Given the description of an element on the screen output the (x, y) to click on. 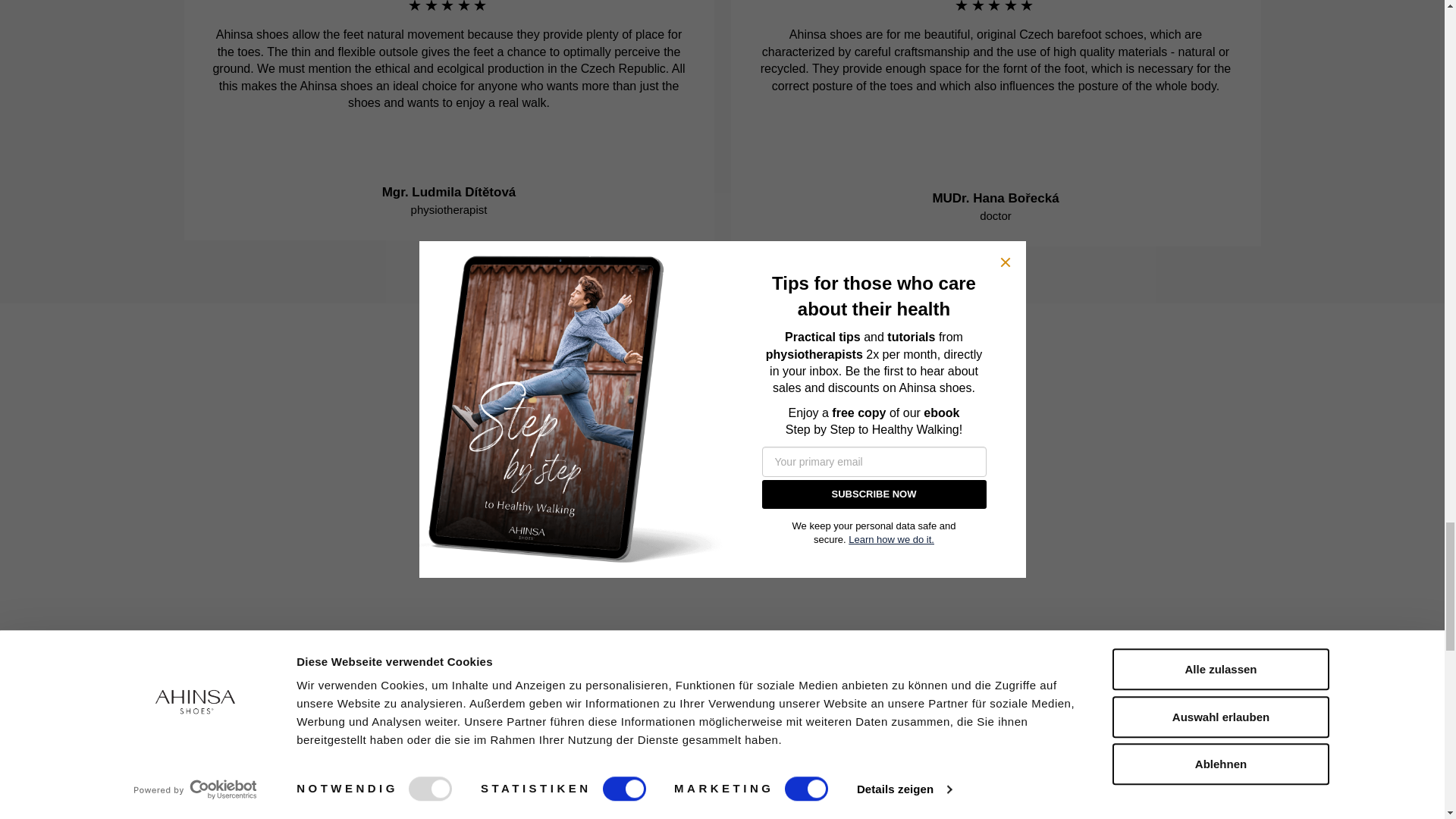
Barefoot shoes (559, 813)
